Given the description of an element on the screen output the (x, y) to click on. 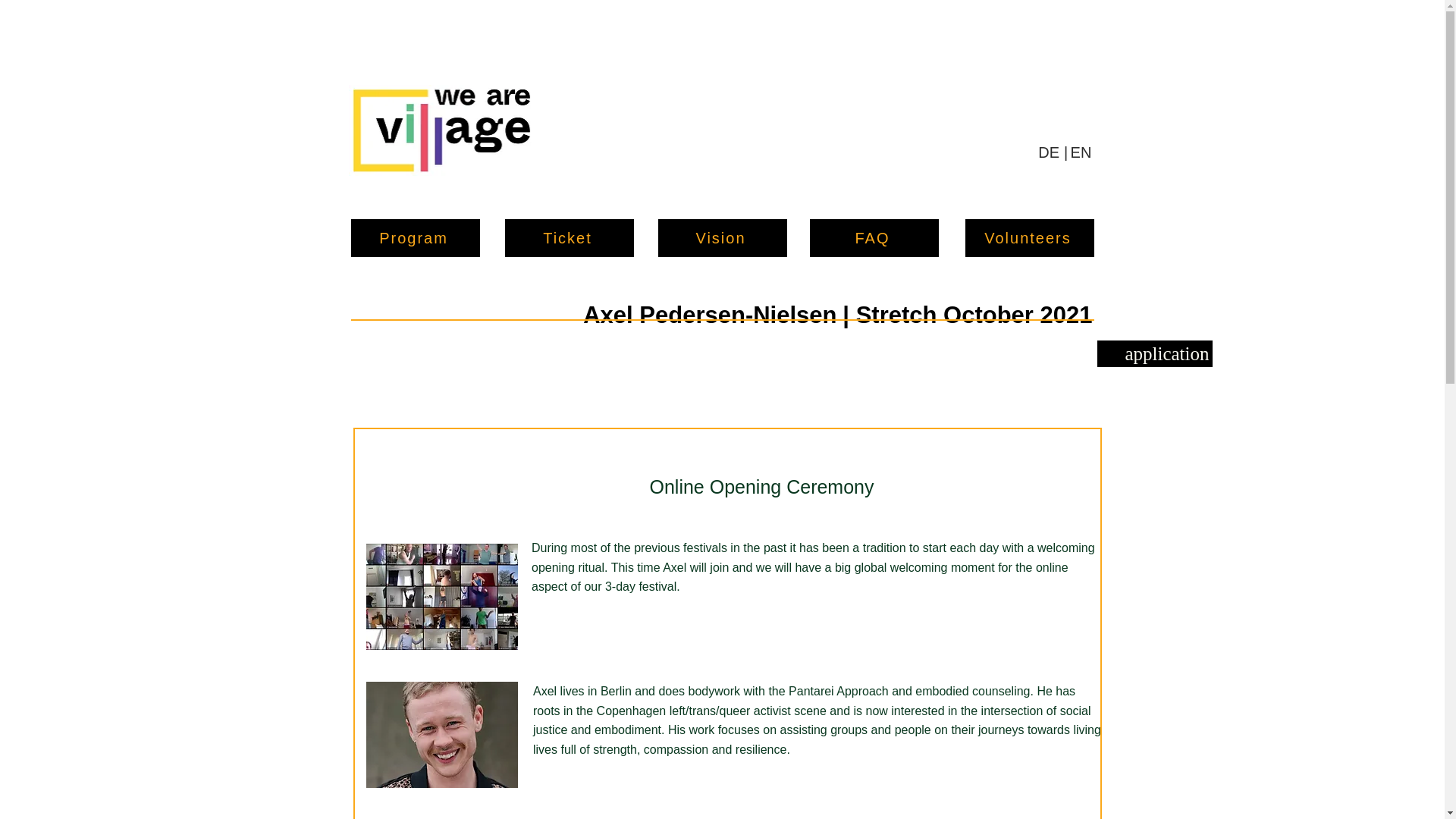
application (1153, 353)
Vision (722, 238)
workshop1-1.jpg (442, 596)
Axel Peddersen.jpg (442, 734)
EN (1081, 152)
Ticket (569, 238)
FAQ (874, 238)
Program (414, 238)
Volunteers (1028, 238)
